Given the description of an element on the screen output the (x, y) to click on. 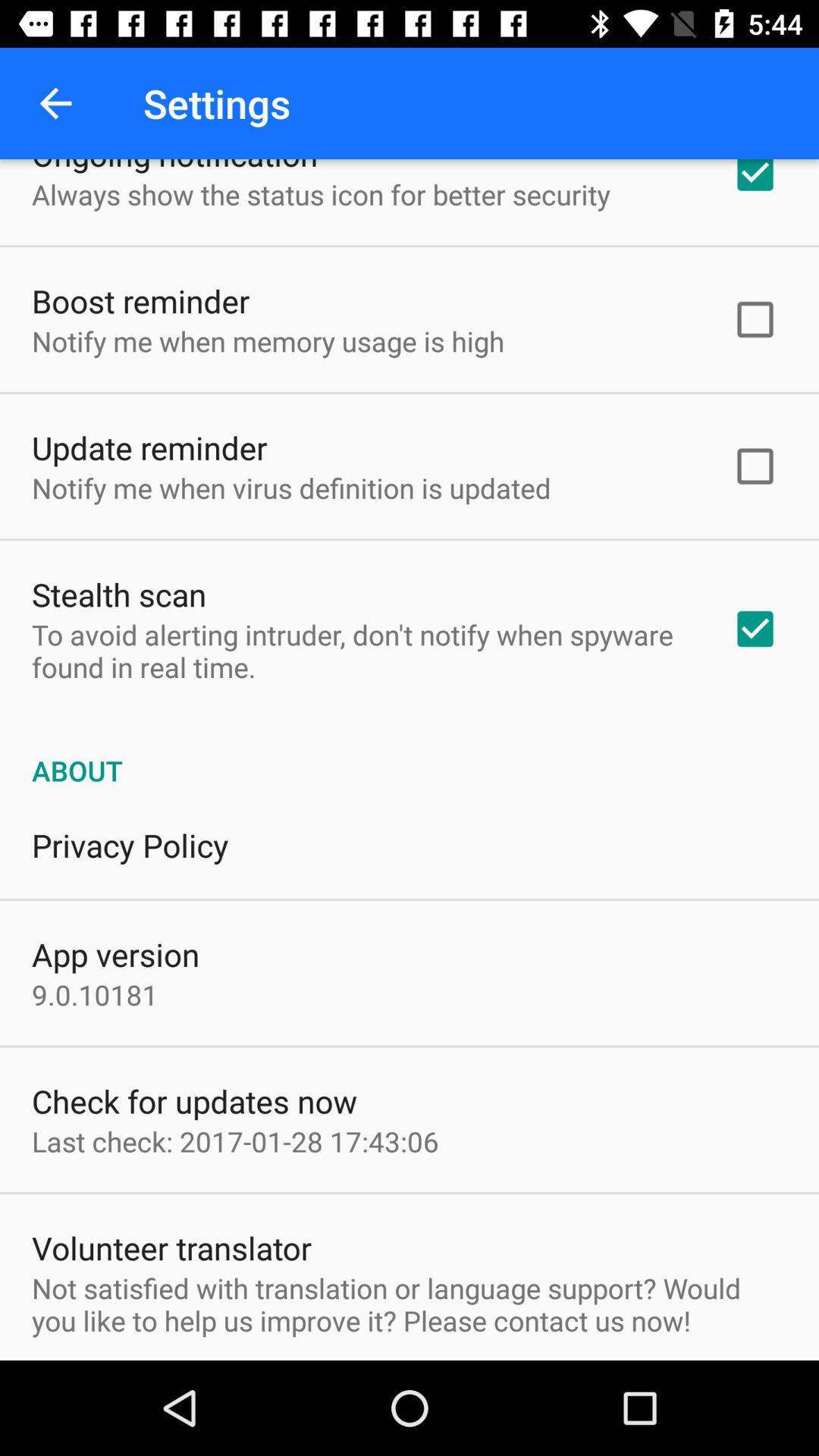
press item below the about (129, 844)
